Given the description of an element on the screen output the (x, y) to click on. 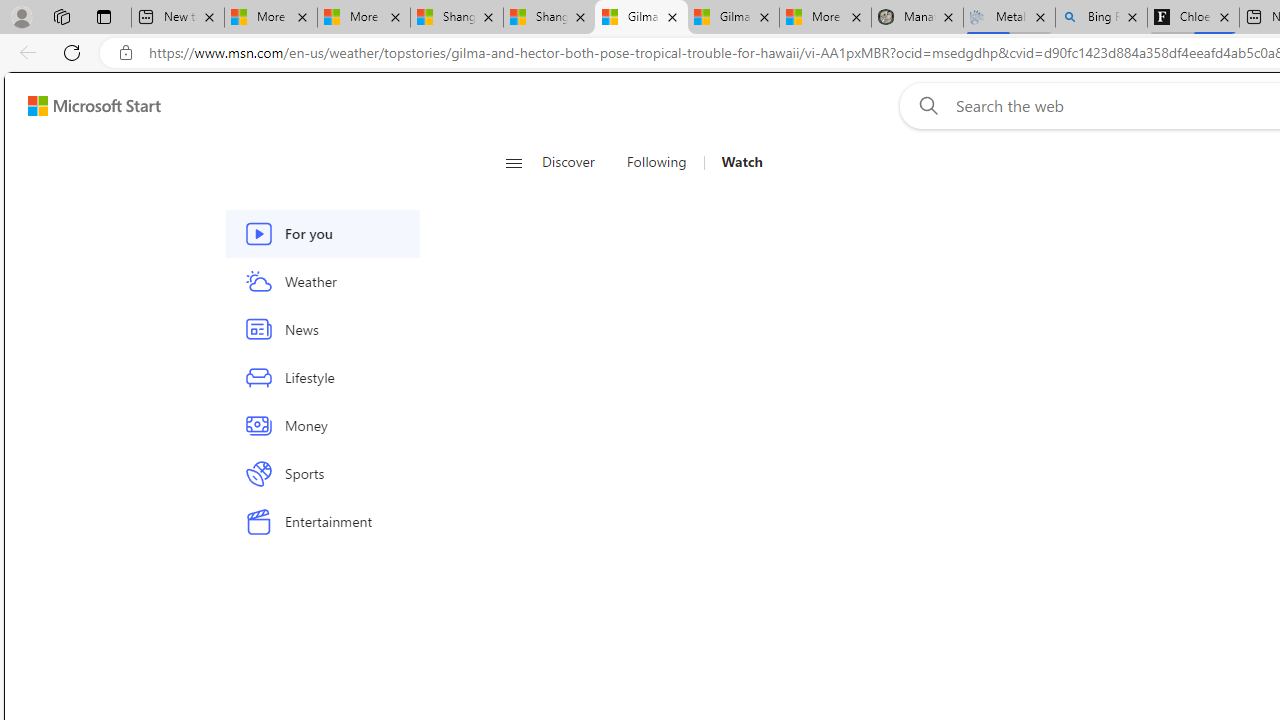
Bing Real Estate - Home sales and rental listings (1101, 17)
Class: button-glyph (513, 162)
